Given the description of an element on the screen output the (x, y) to click on. 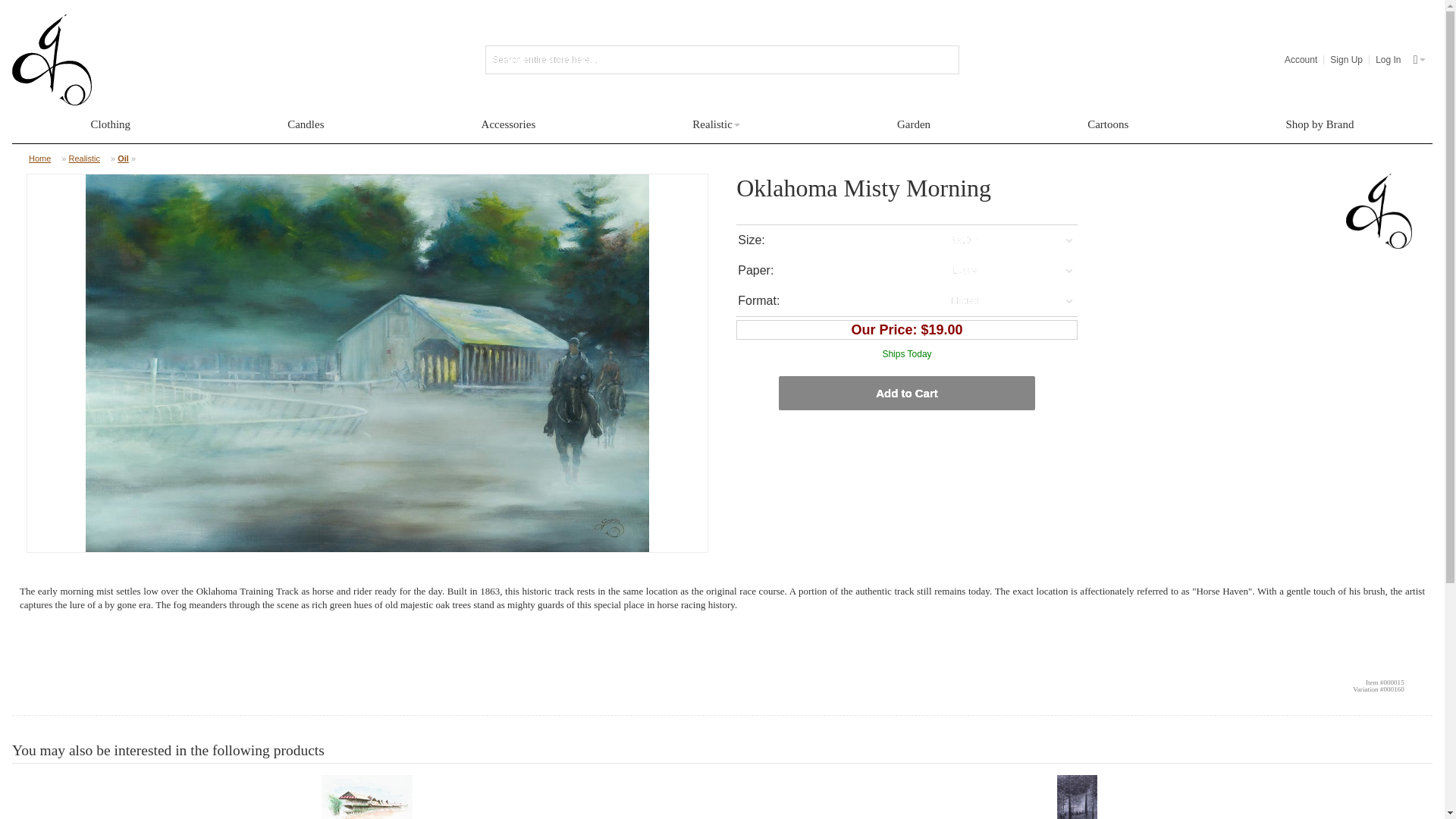
Shop by Brand (1319, 123)
The Walk (1077, 796)
Realistic (87, 157)
Accessories (508, 123)
Log In (1388, 59)
Candles (304, 123)
Clothing (110, 123)
Home (44, 157)
Saratoga Clubhouse WaterColor (367, 796)
Add to Cart (905, 392)
Garden (913, 123)
Add to Cart (905, 392)
Cartoons (1107, 123)
Sign Up (1346, 59)
